Given the description of an element on the screen output the (x, y) to click on. 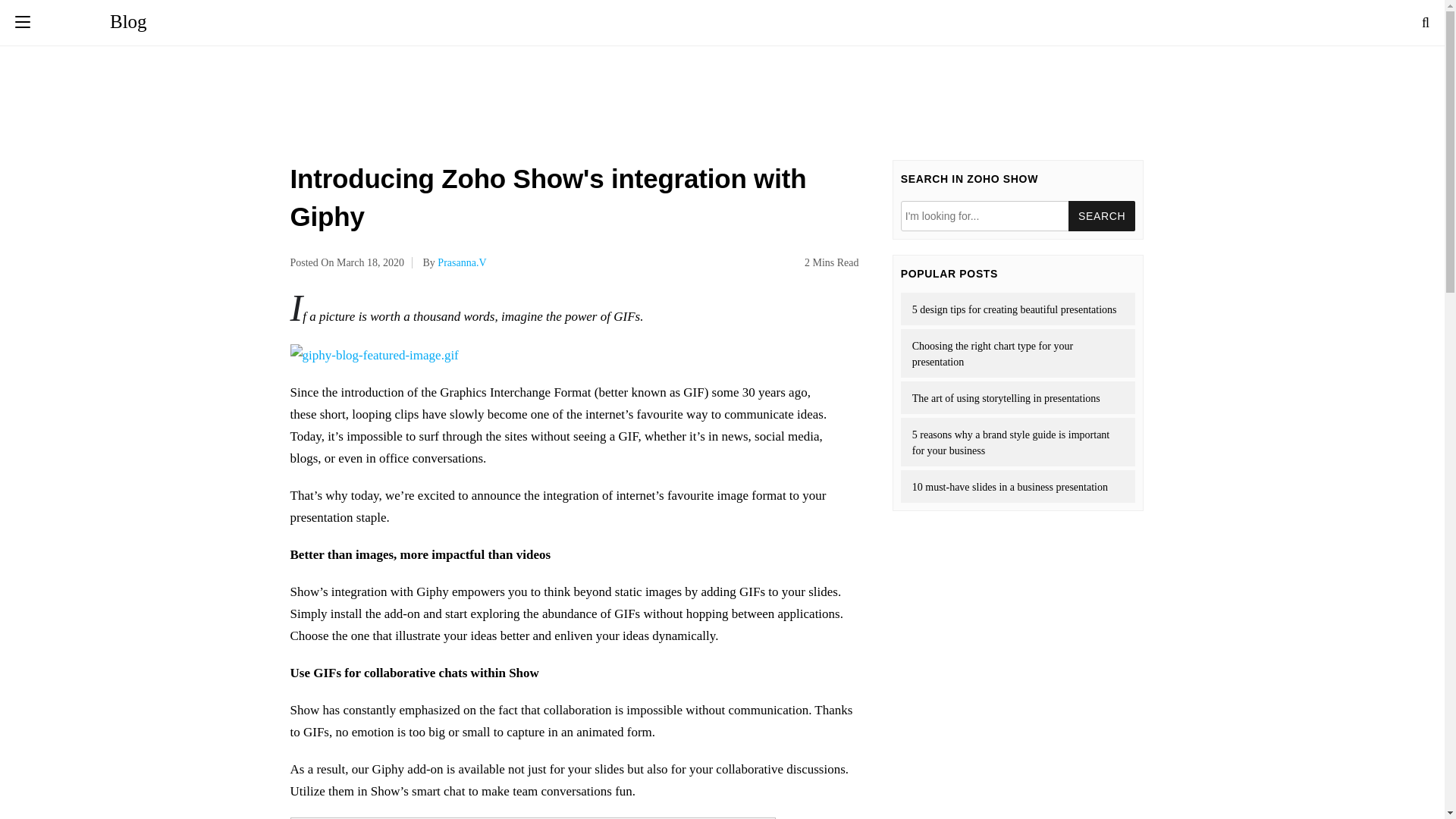
Choosing the right chart type for your presentation (1018, 353)
5 design tips for creating beautiful presentations (1018, 308)
Blog (94, 21)
10 must-have slides in a business presentation (1018, 486)
The art of using storytelling in presentations (1018, 397)
Prasanna.V (462, 262)
Search (1101, 215)
giphy-blog-featured-image.gif (373, 353)
Search (1101, 215)
